Given the description of an element on the screen output the (x, y) to click on. 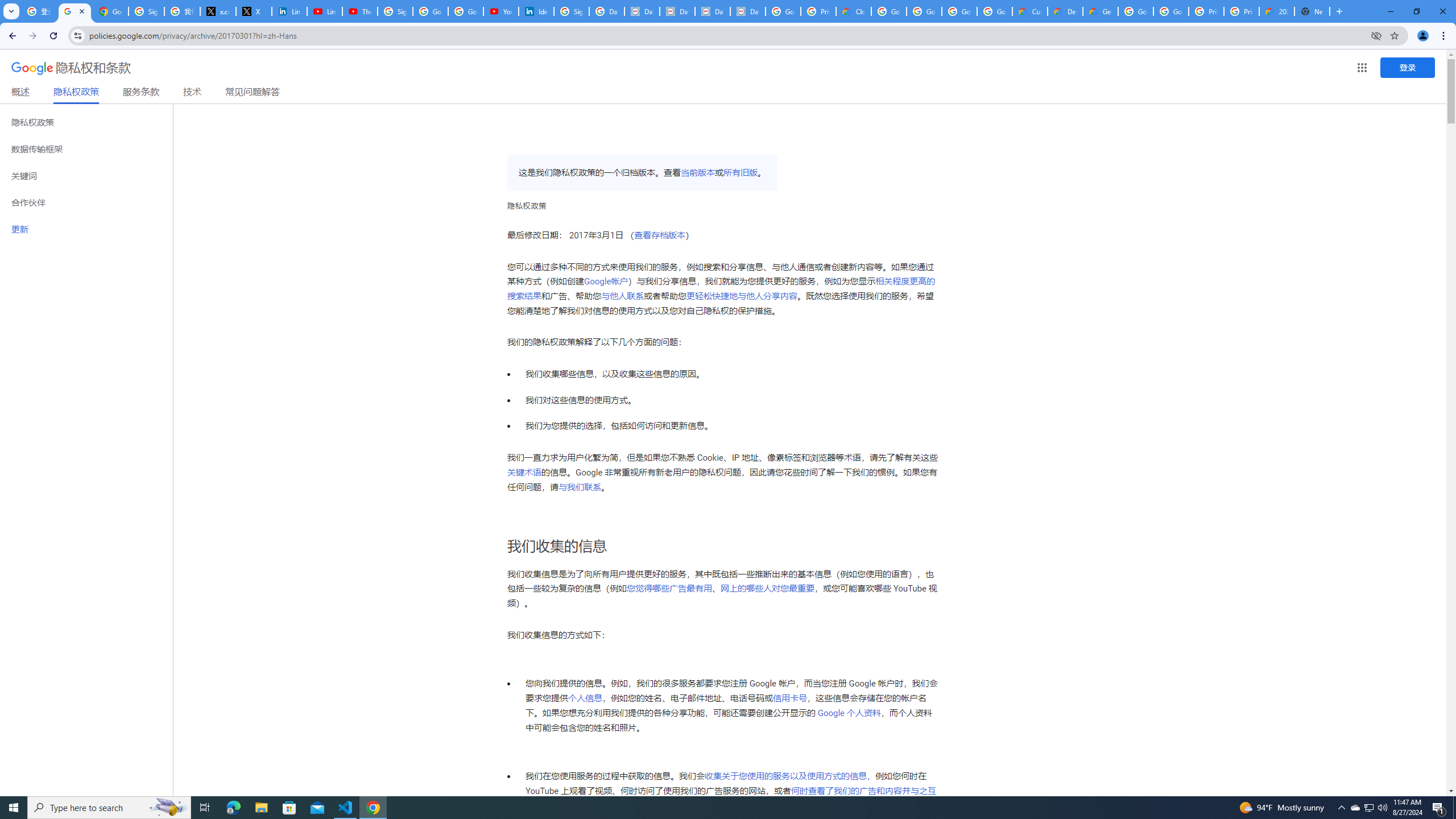
Google Workspace - Specific Terms (959, 11)
Cloud Data Processing Addendum | Google Cloud (853, 11)
Google Cloud Platform (1135, 11)
